Given the description of an element on the screen output the (x, y) to click on. 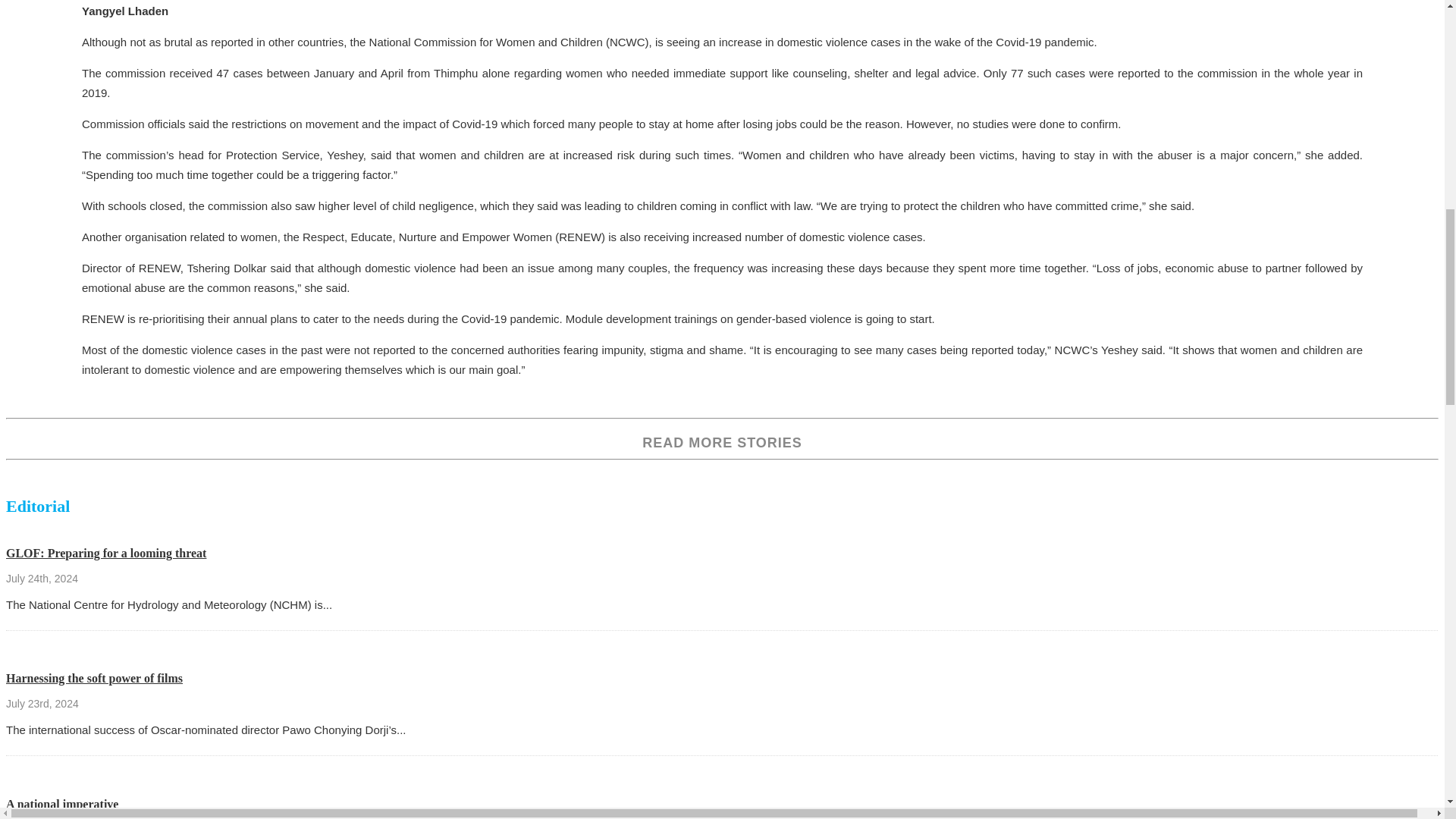
Harnessing the soft power of films (94, 677)
GLOF: Preparing for a looming threat (105, 553)
A national imperative (61, 803)
